Given the description of an element on the screen output the (x, y) to click on. 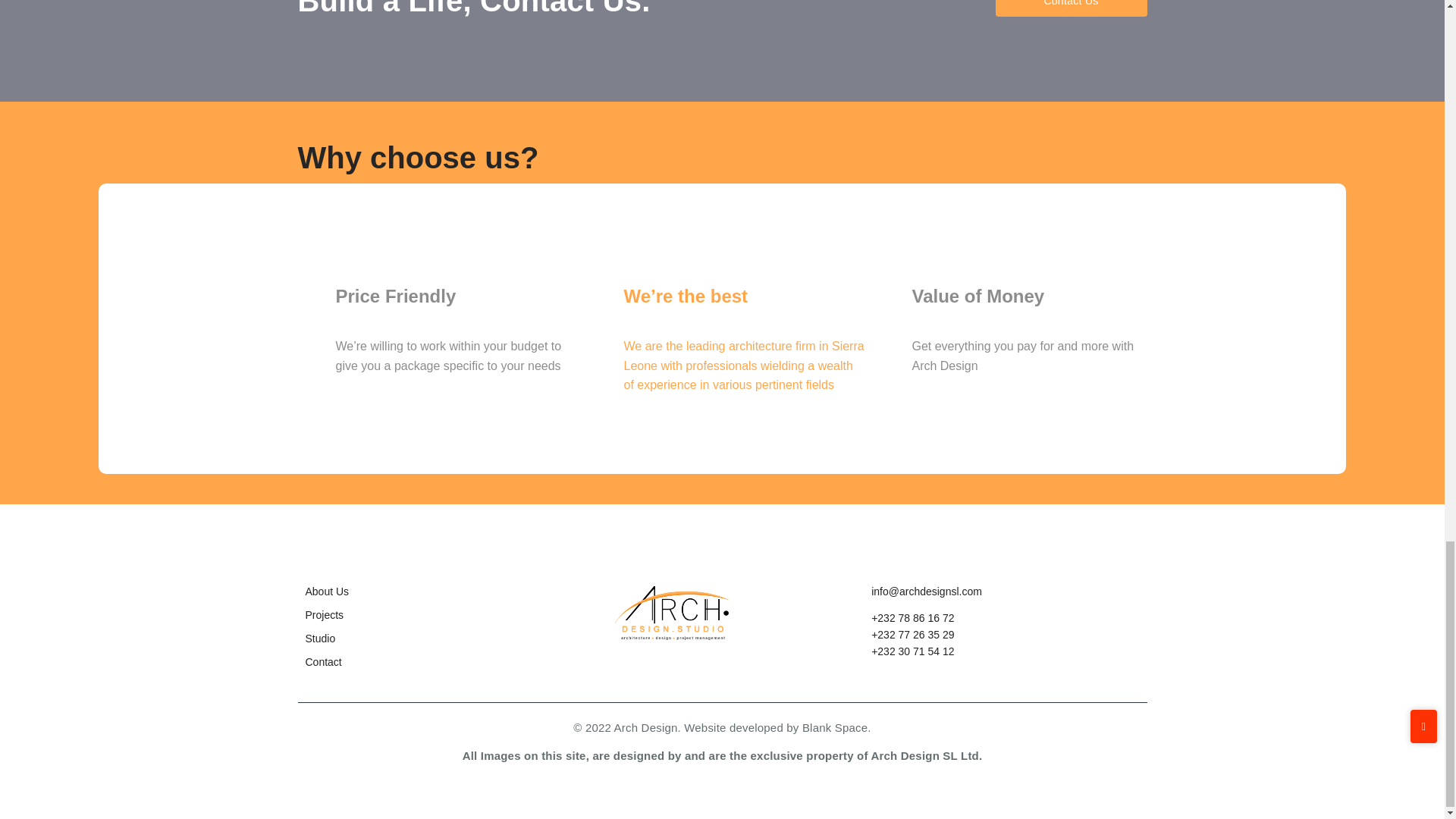
Studio (319, 638)
Contact Us (1070, 7)
About Us (326, 591)
Projects (323, 614)
Contact (322, 662)
